Given the description of an element on the screen output the (x, y) to click on. 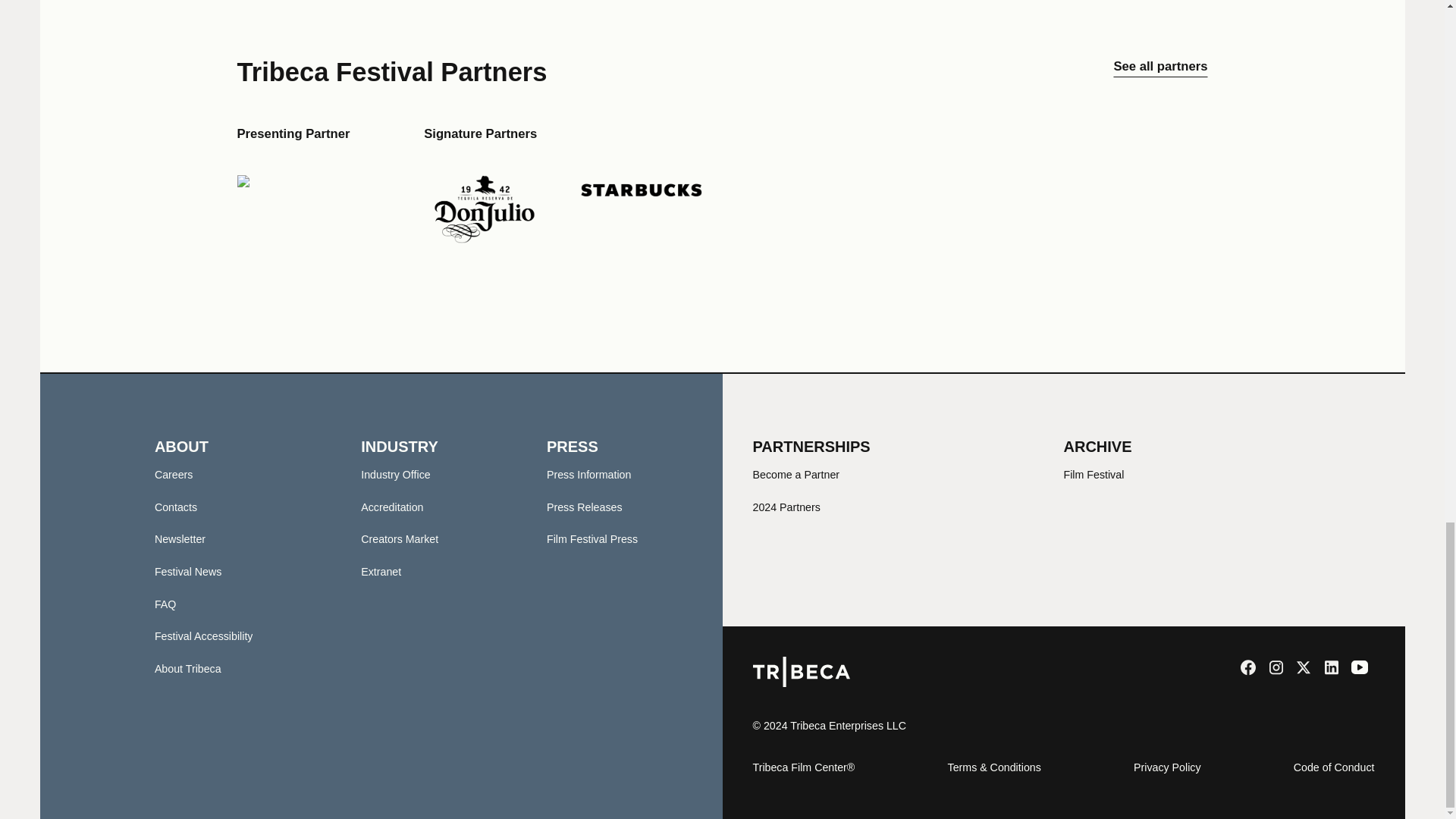
Contacts (175, 507)
About Tribeca (187, 668)
Industry Office (395, 474)
FAQ (165, 604)
See all partners (1160, 71)
Festival News (188, 571)
Festival Accessibility (203, 635)
Careers (173, 474)
Accreditation (392, 507)
Newsletter (179, 539)
